Given the description of an element on the screen output the (x, y) to click on. 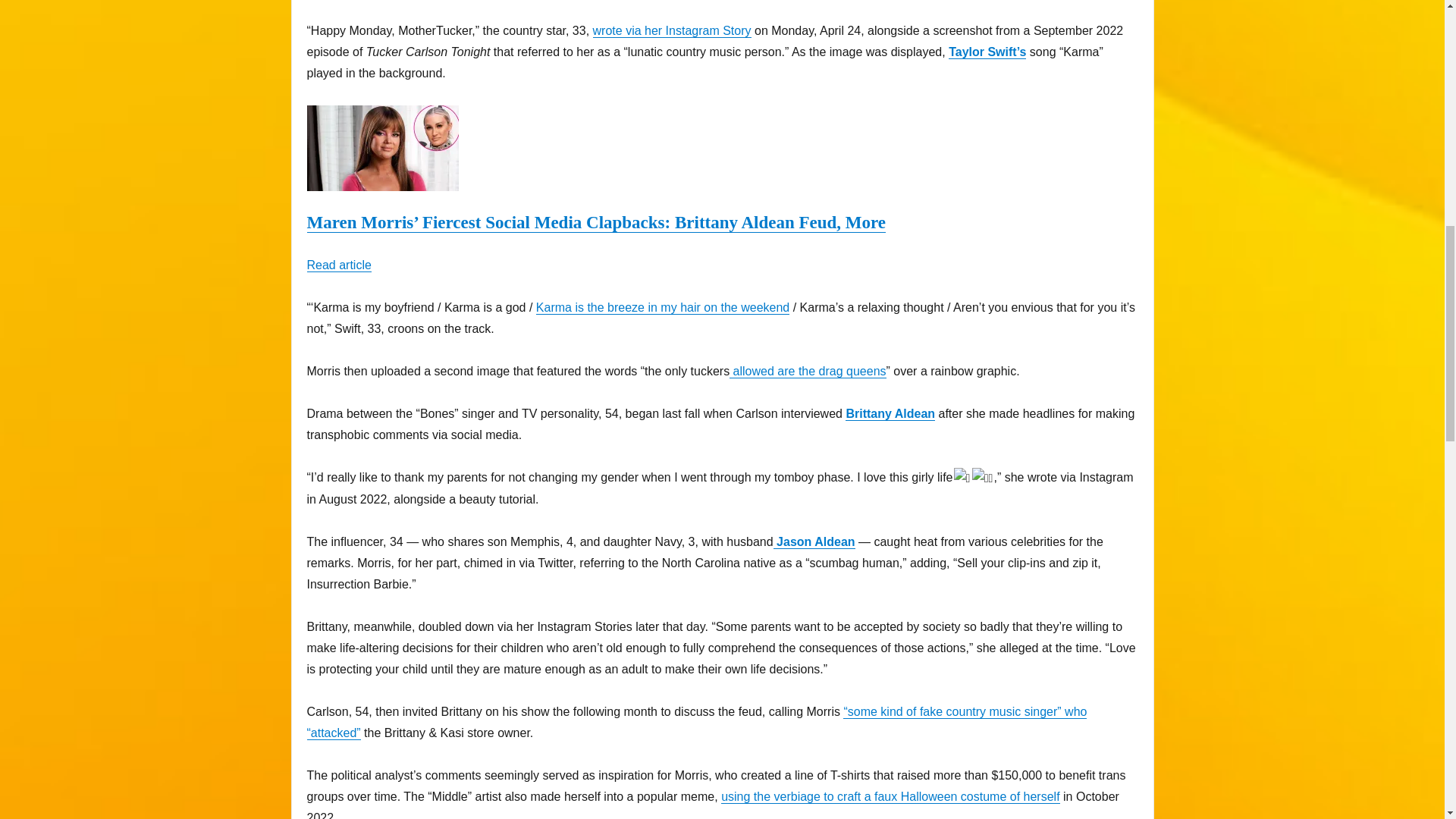
Karma is the breeze in my hair on the weekend (662, 307)
Read article (338, 264)
allowed are the drag queens (807, 370)
Jason Aldean (814, 541)
Brittany Aldean (889, 413)
wrote via her Instagram Story (671, 30)
